Given the description of an element on the screen output the (x, y) to click on. 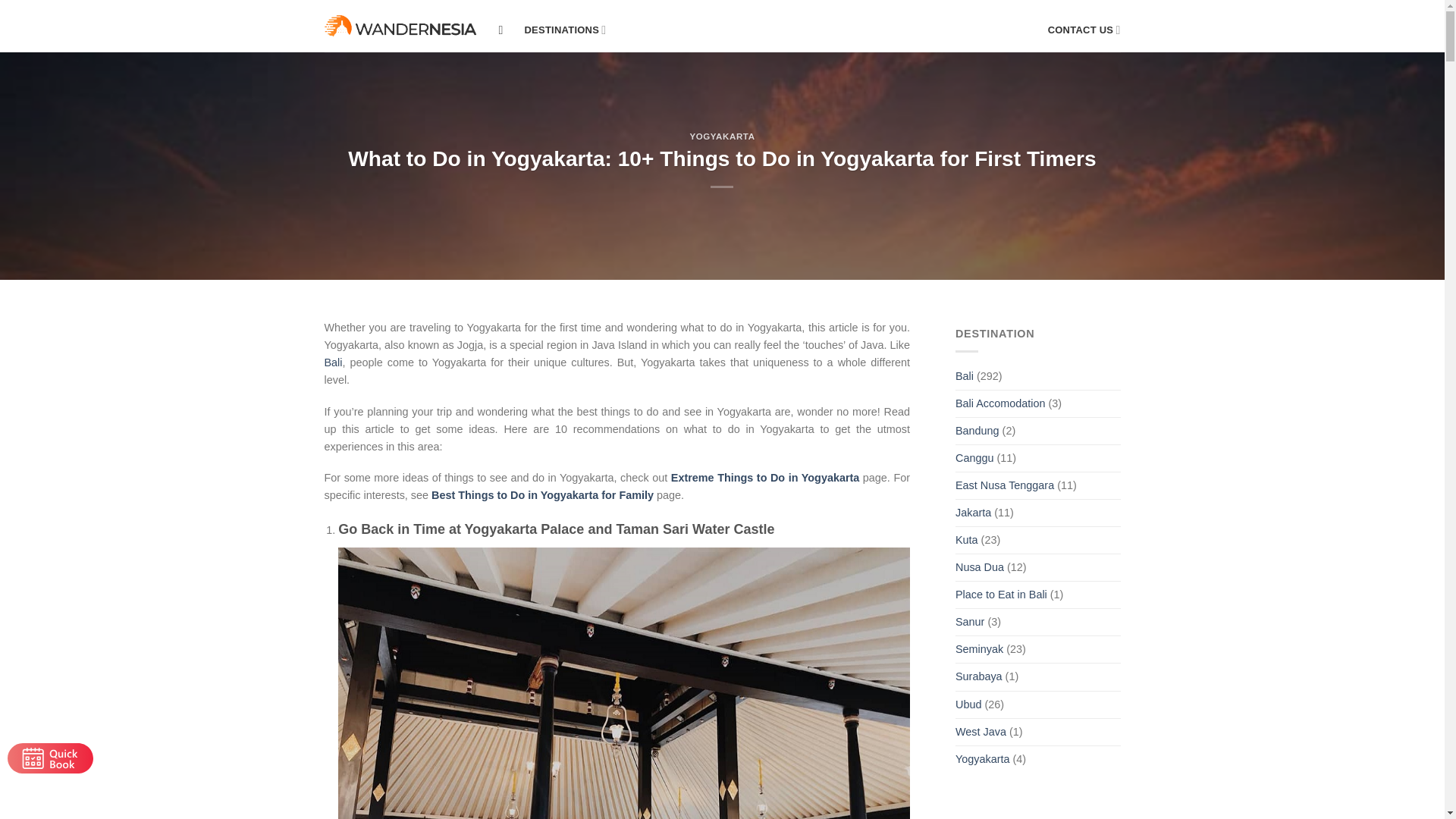
Best Things to Do in Yogyakarta for Family (541, 494)
Wandernesia - Wanderlust Indonesia (400, 25)
YOGYAKARTA (721, 135)
DESTINATIONS (565, 30)
CONTACT US (1084, 30)
Extreme Things to Do in Yogyakarta (765, 477)
Bali (333, 362)
